Given the description of an element on the screen output the (x, y) to click on. 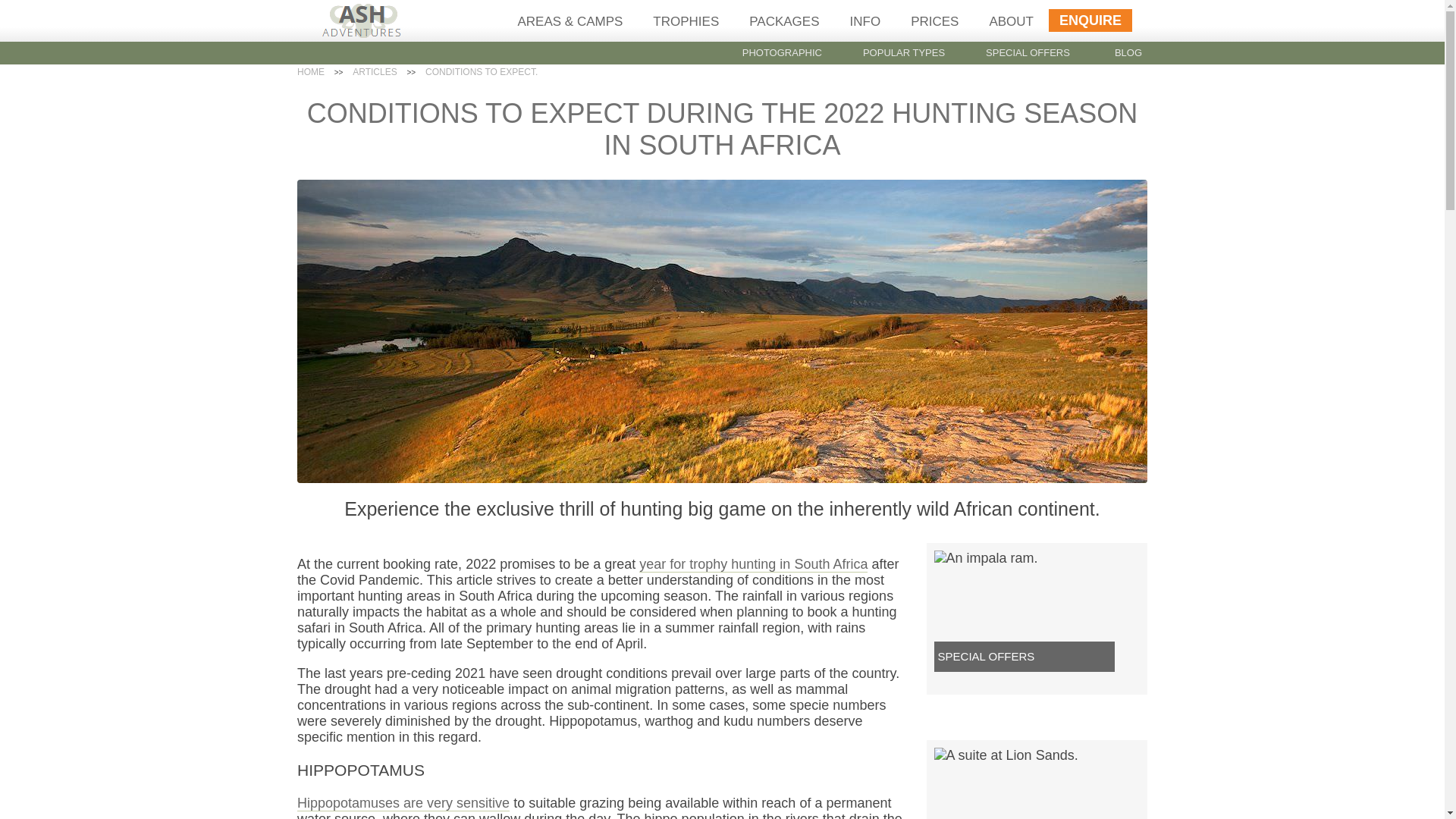
SPECIAL OFFERS (1027, 52)
TROPHIES (685, 21)
PHOTOGRAPHIC (782, 52)
ARTICLES (374, 71)
PACKAGES (783, 21)
CONDITIONS TO EXPECT. (481, 71)
PRICES (934, 21)
INFO (865, 21)
BLOG (1128, 52)
Contact ASH Adventures (1090, 20)
POPULAR TYPES (903, 52)
ENQUIRE (1090, 20)
ASH Adventures (362, 33)
SPECIAL OFFERS (986, 656)
HOME (310, 71)
